Given the description of an element on the screen output the (x, y) to click on. 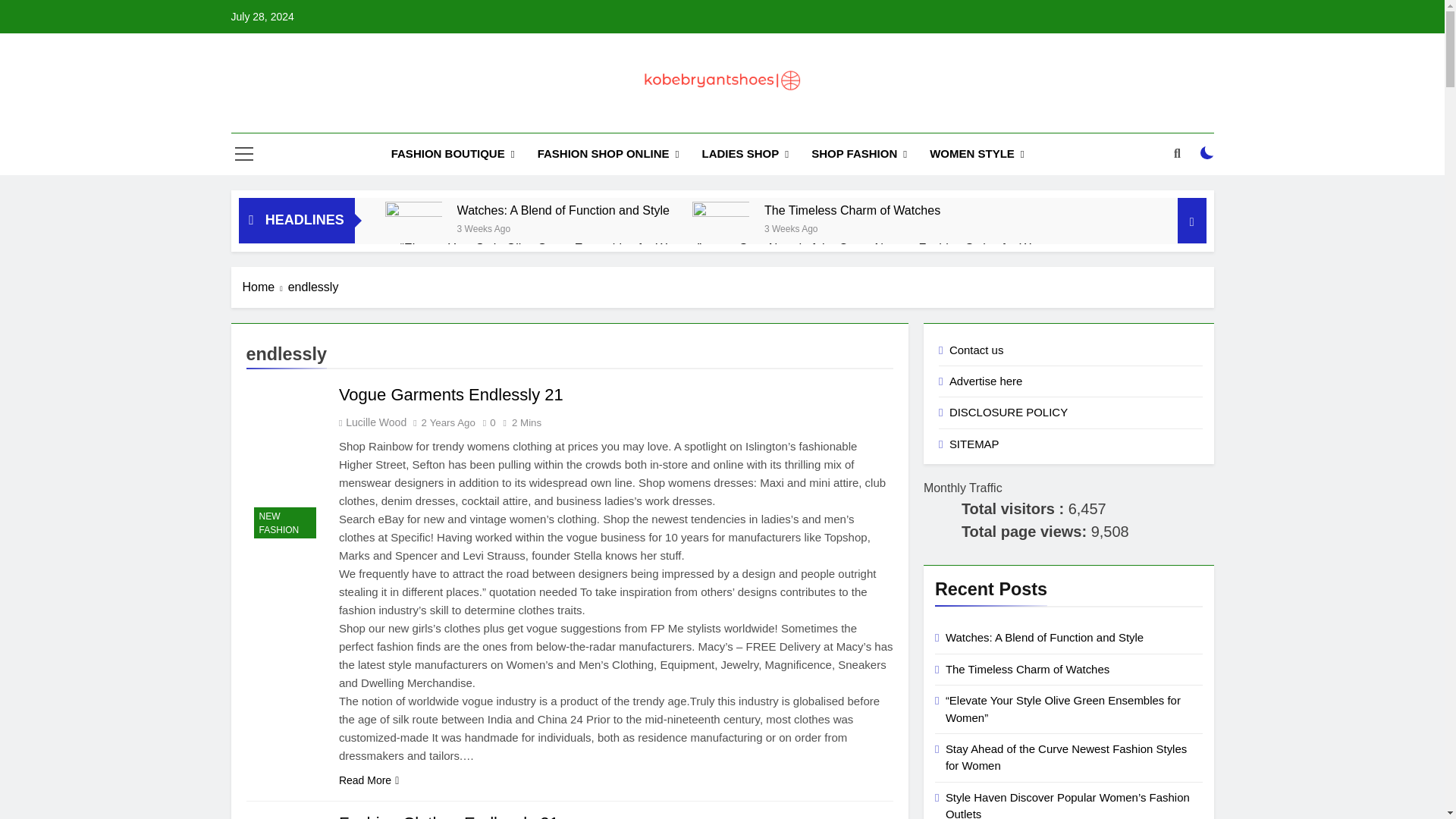
The Timeless Charm of Watches (721, 220)
3 Weeks Ago (484, 227)
FASHION BOUTIQUE (452, 154)
LADIES SHOP (745, 154)
The Timeless Charm of Watches (852, 210)
FASHION SHOP ONLINE (607, 154)
Watches: A Blend of Function and Style (563, 210)
Watches: A Blend of Function and Style (563, 210)
Watches: A Blend of Function and Style (413, 244)
Stay Ahead of the Curve Newest Fashion Styles for Women (900, 247)
on (1206, 152)
WOMEN STYLE (976, 154)
SHOP FASHION (858, 154)
KobeBryanShoes (606, 118)
